Given the description of an element on the screen output the (x, y) to click on. 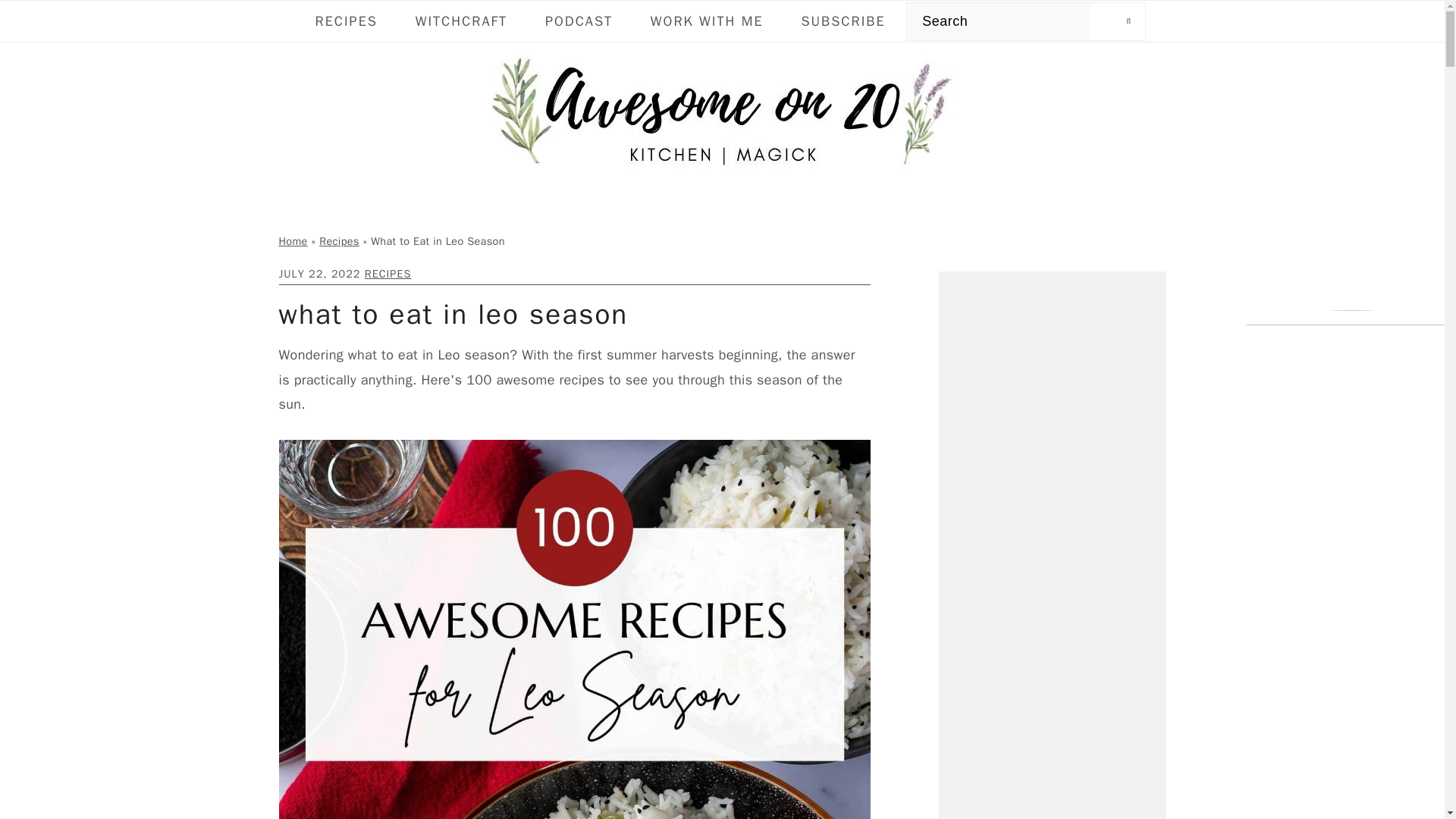
SUBSCRIBE (842, 21)
Awesome on 20 (721, 171)
RECIPES (346, 21)
Awesome on 20 (721, 113)
WITCHCRAFT (461, 21)
Home (293, 241)
WORK WITH ME (706, 21)
PODCAST (579, 21)
